Given the description of an element on the screen output the (x, y) to click on. 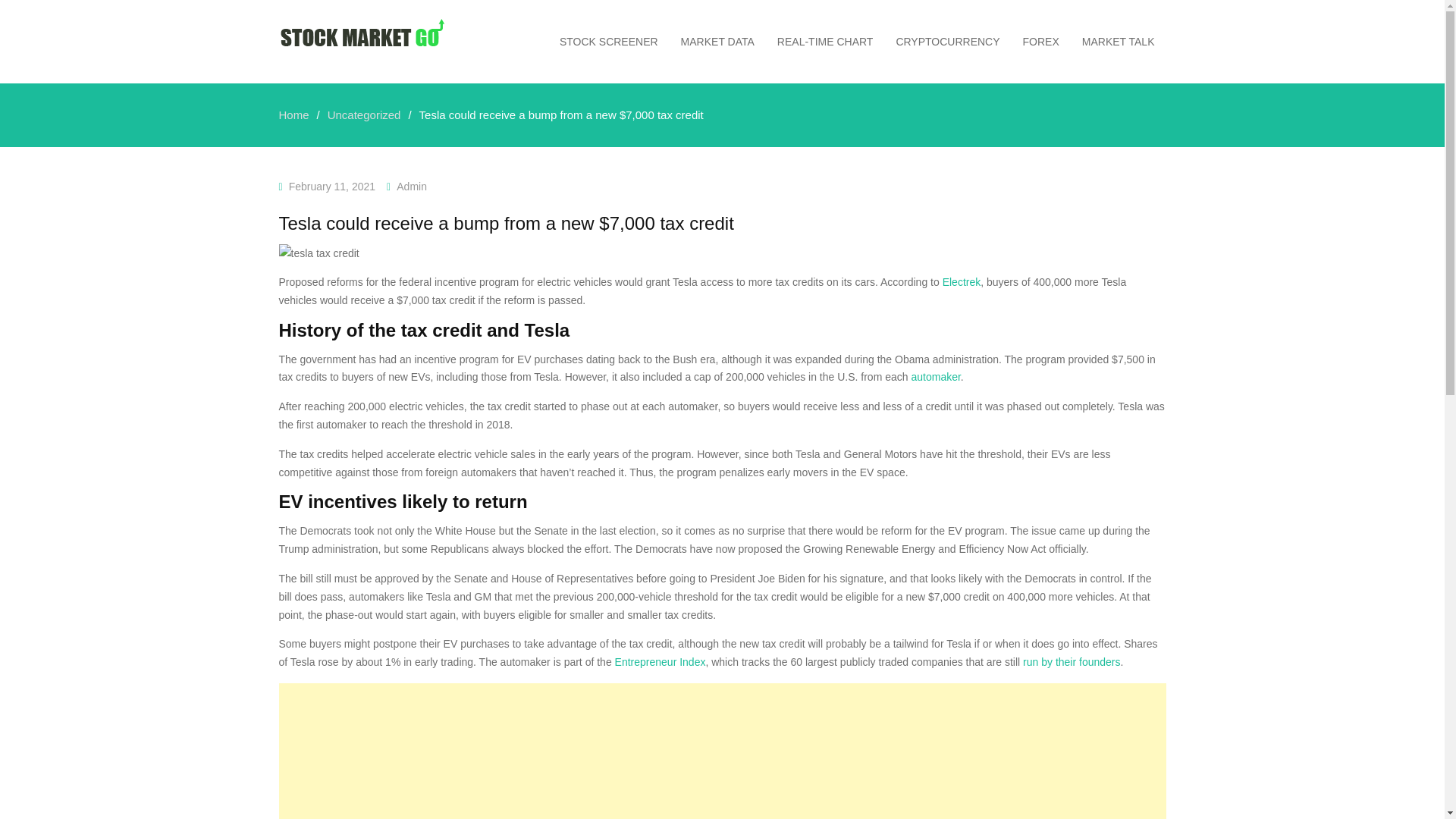
Electrek (961, 282)
CRYPTOCURRENCY (946, 41)
Uncategorized (364, 114)
MARKET TALK (1118, 41)
Entrepreneur Index (660, 662)
automaker (935, 377)
REAL-TIME CHART (825, 41)
February 11, 2021 (331, 186)
Home (293, 114)
STOCK SCREENER (608, 41)
